Given the description of an element on the screen output the (x, y) to click on. 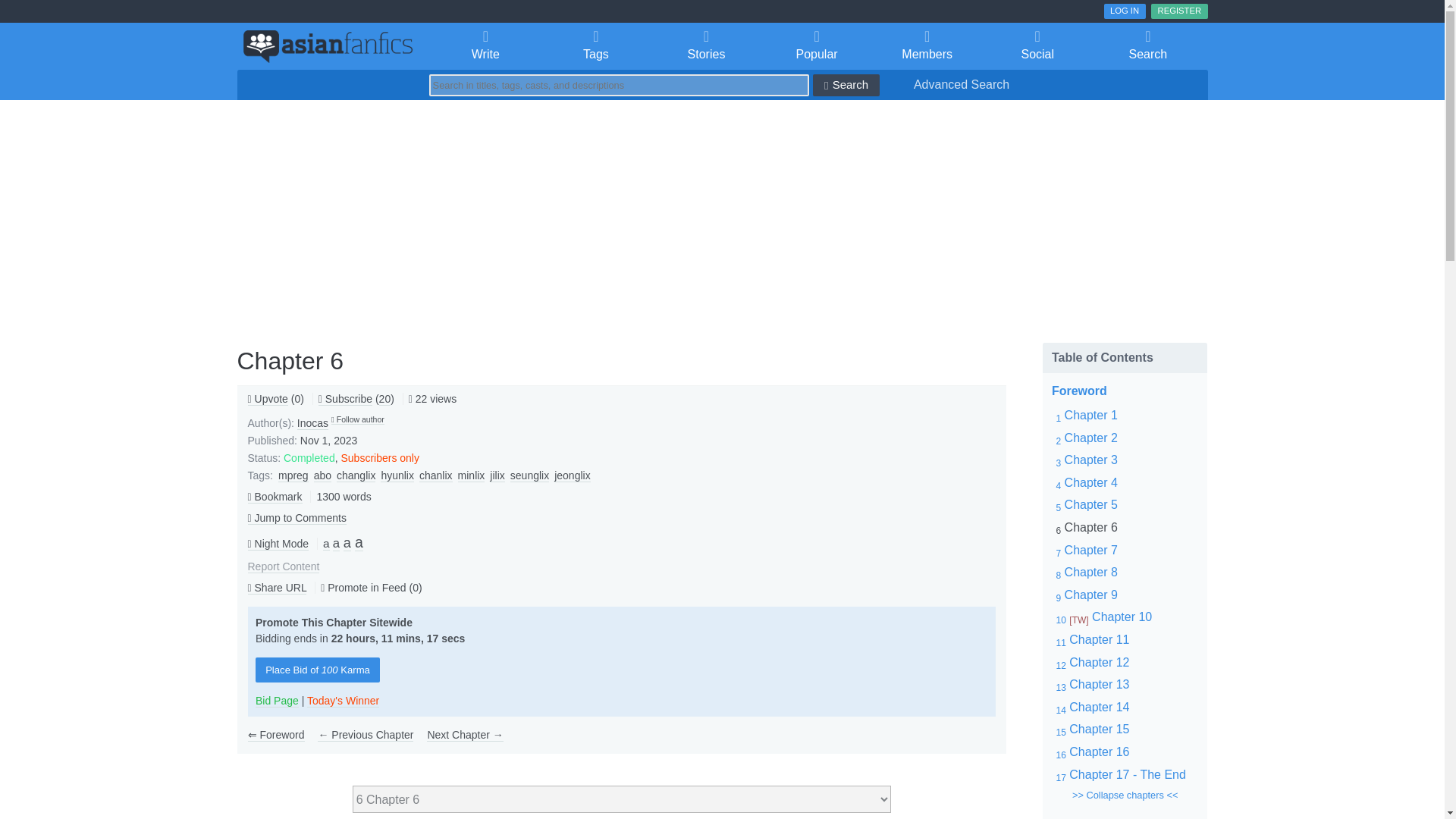
Search (1148, 45)
Members (927, 45)
Tags (595, 45)
REGISTER (1179, 10)
Social (1037, 45)
Write (485, 45)
Popular (816, 45)
Stories (705, 45)
LOG IN (1124, 10)
